Given the description of an element on the screen output the (x, y) to click on. 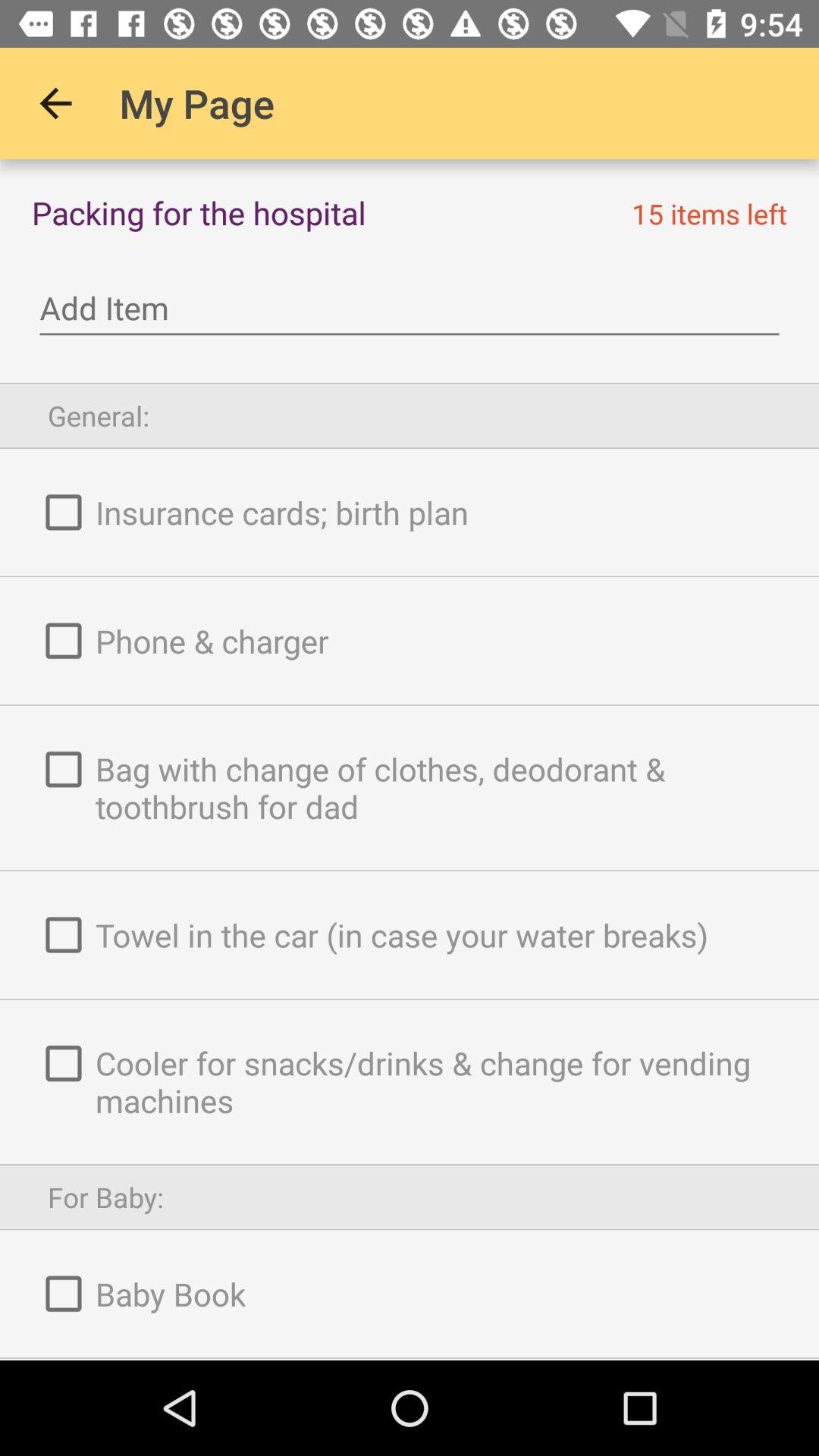
choose icon above packing for the item (55, 103)
